Given the description of an element on the screen output the (x, y) to click on. 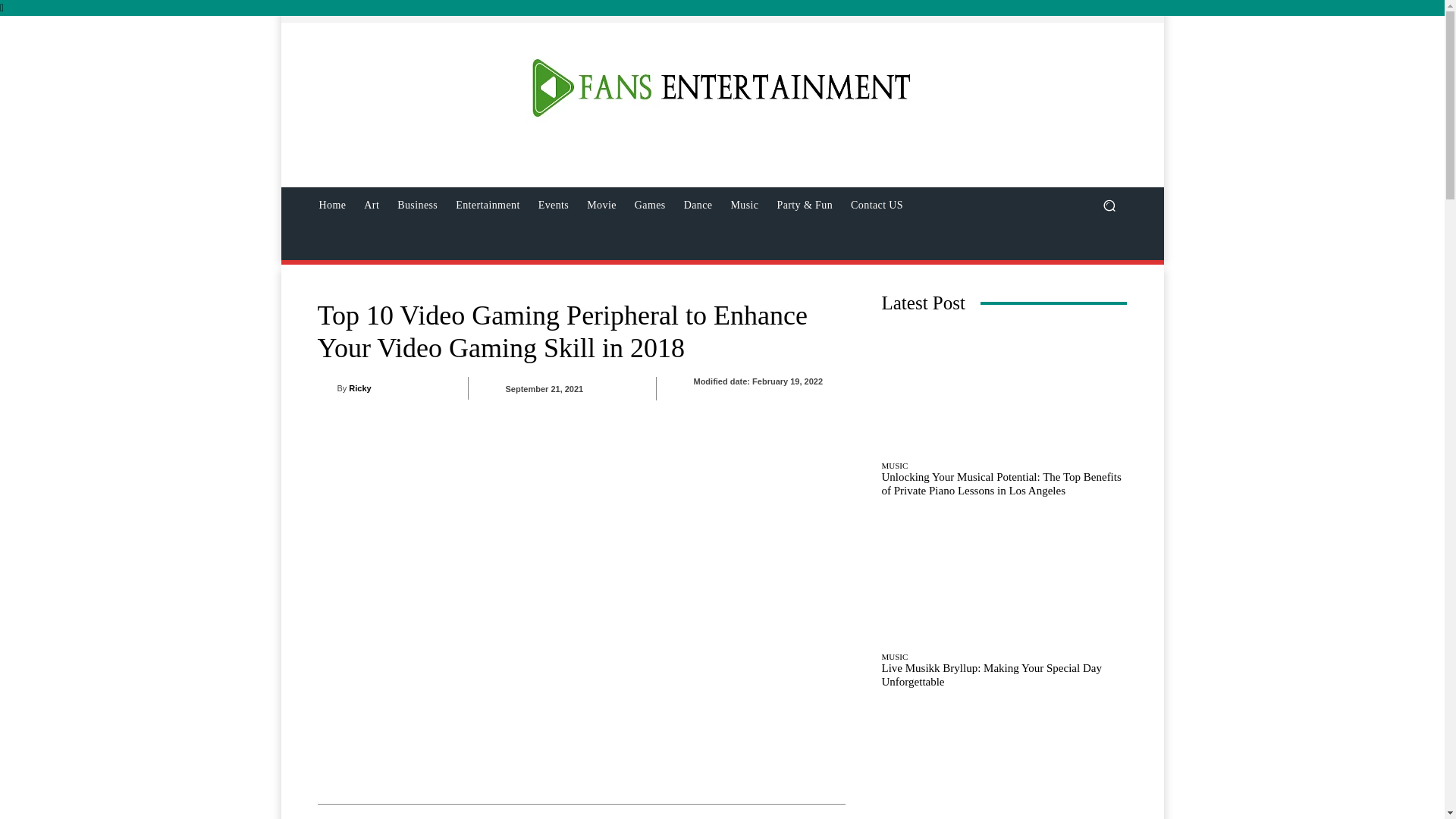
Ricky (326, 387)
Art (371, 205)
Home (331, 205)
Business (417, 205)
Live Musikk Bryllup: Making Your Special Day Unforgettable (1003, 581)
Music (743, 205)
Dance (698, 205)
Contact US (876, 205)
Events (553, 205)
Movie (602, 205)
Entertainment (487, 205)
Games (650, 205)
